Given the description of an element on the screen output the (x, y) to click on. 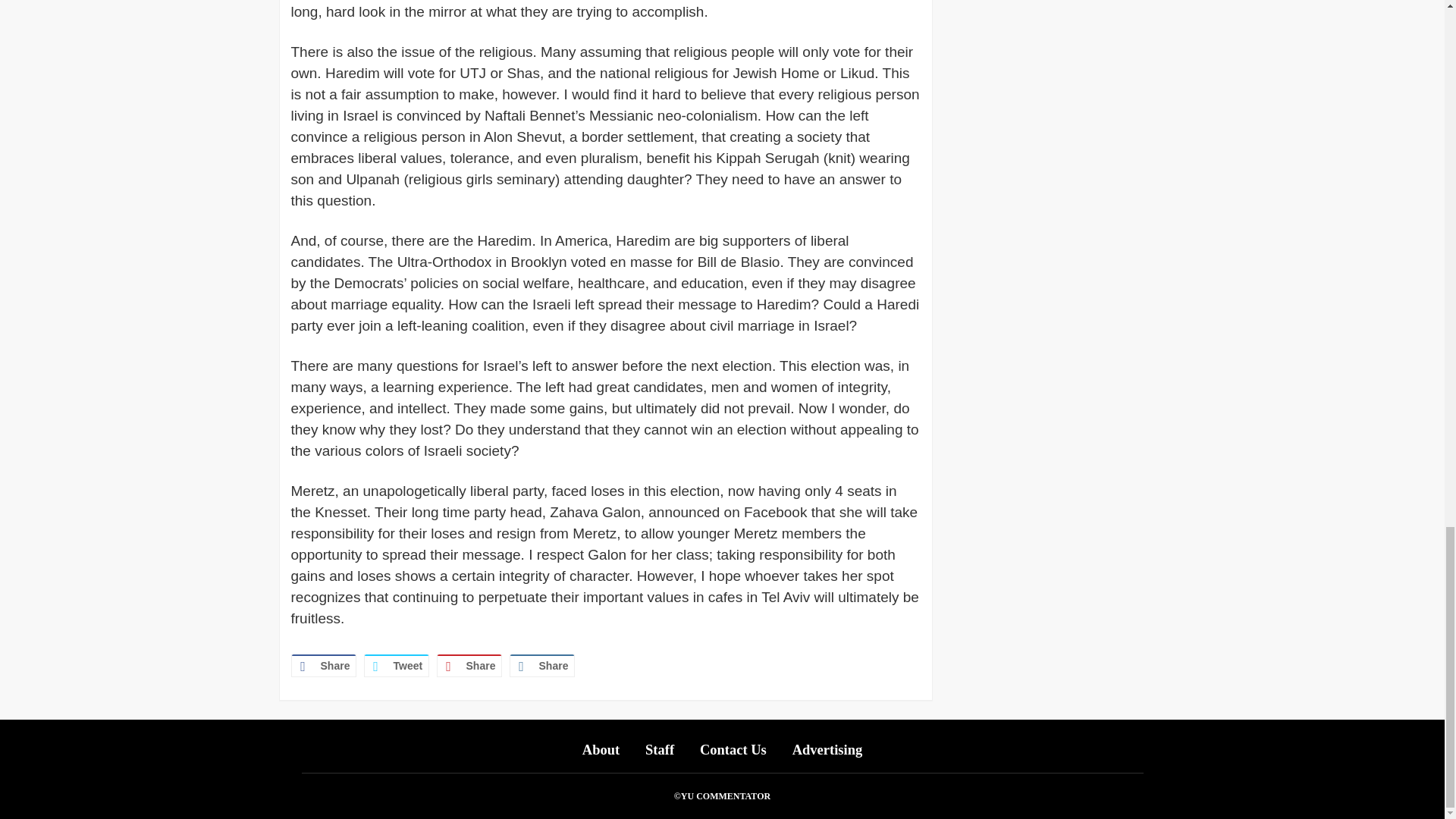
Share on LinkedIn (542, 665)
Tweet (396, 665)
Share on Pinterest (469, 665)
Share on Twitter (396, 665)
Share (469, 665)
Share (323, 665)
Share (542, 665)
Share on Facebook (323, 665)
